Given the description of an element on the screen output the (x, y) to click on. 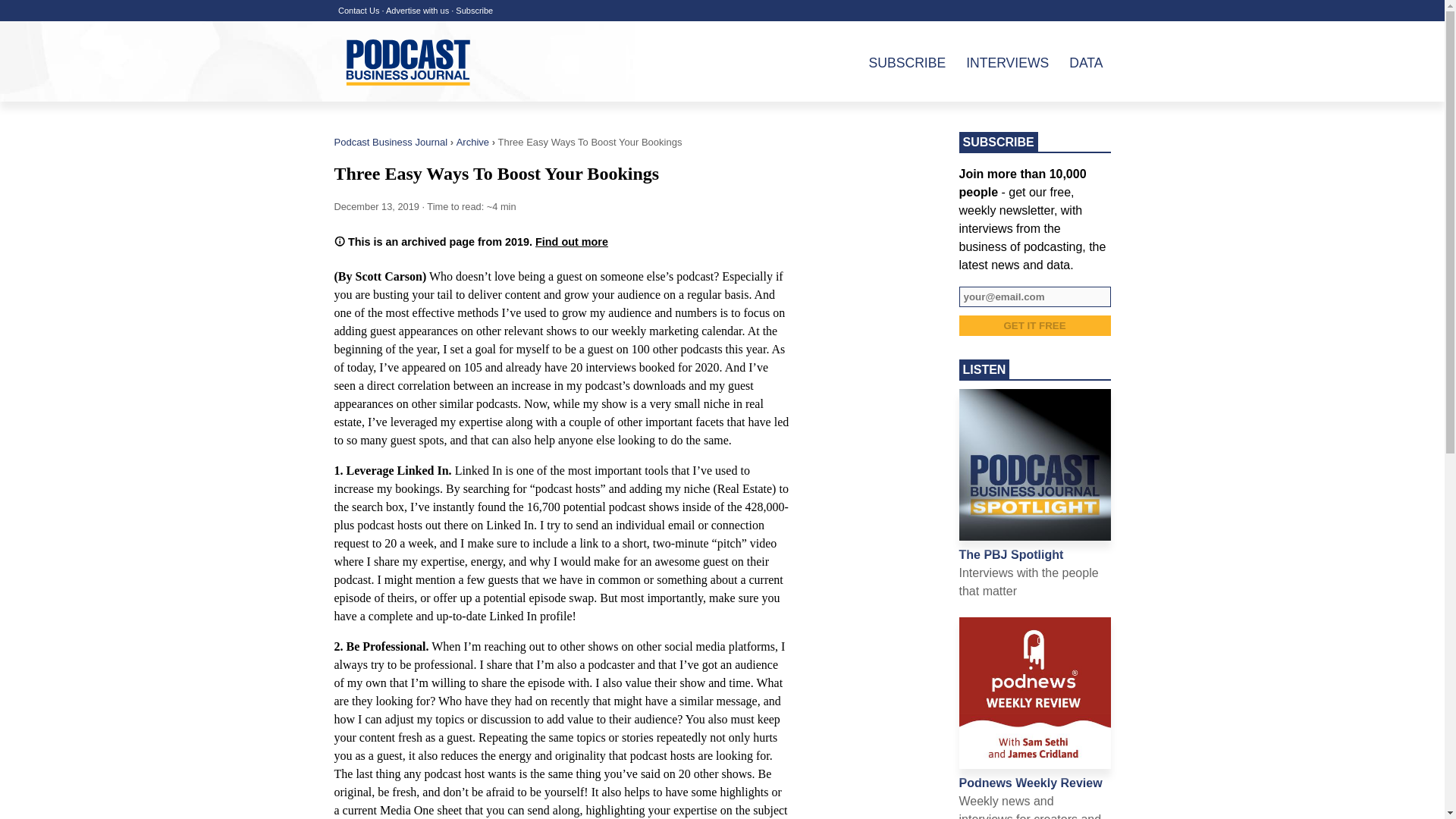
Get it free (1033, 325)
Archive (473, 142)
Subscribe (474, 10)
Get it free (1033, 325)
Podcast Business Journal (389, 142)
Contact Us (357, 10)
SUBSCRIBE (898, 61)
DATA (1077, 61)
Advertise with us (416, 10)
Find out more (571, 241)
